Given the description of an element on the screen output the (x, y) to click on. 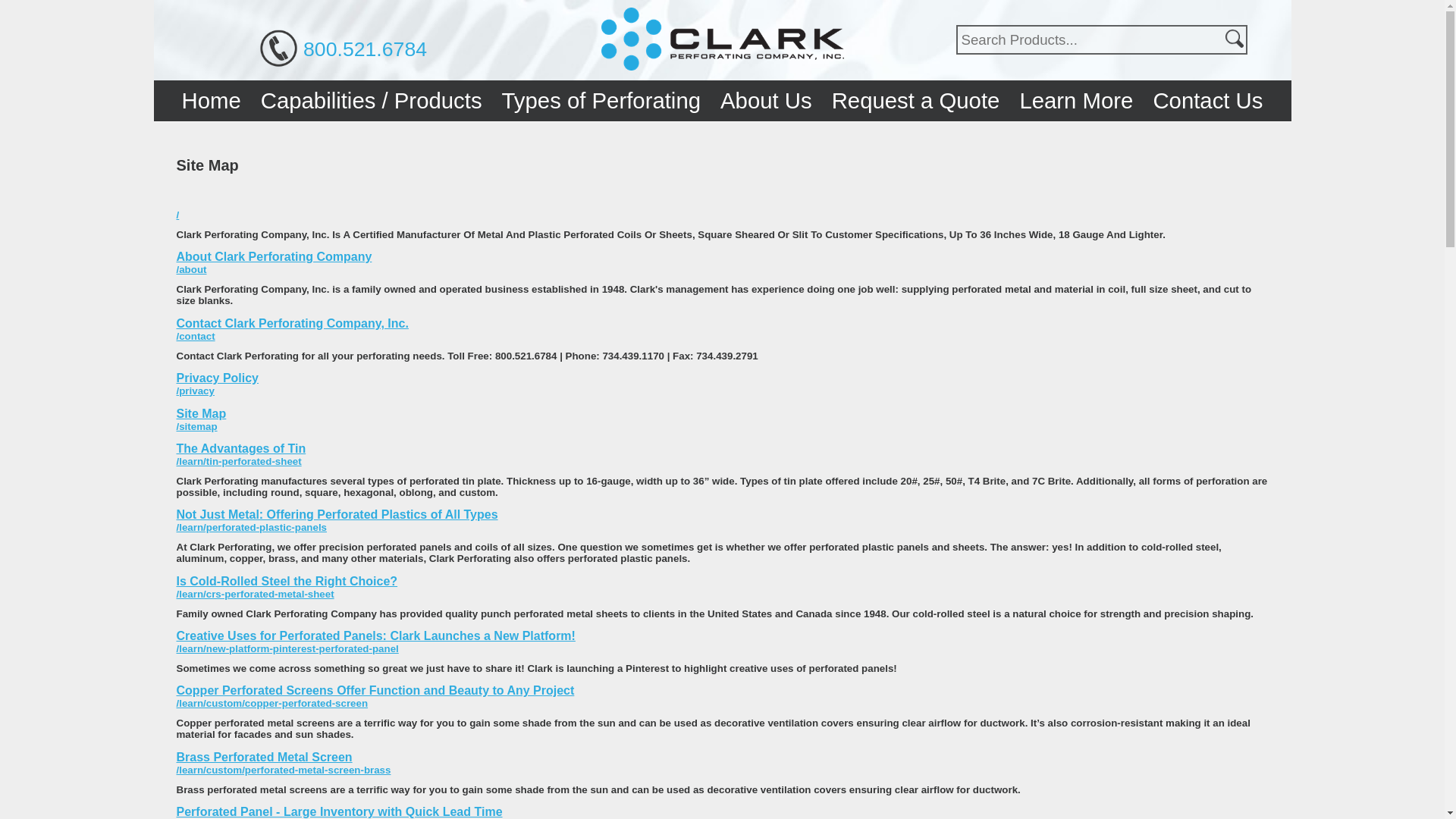
800.521.6784 (364, 48)
Learn More (1075, 100)
Contact Clark Perforating Company, Inc. (291, 323)
Home (210, 100)
Types of Perforating (601, 100)
Request a Quote (916, 100)
About Clark Perforating Company (273, 256)
Contact Us (1207, 100)
About Us (766, 100)
